Given the description of an element on the screen output the (x, y) to click on. 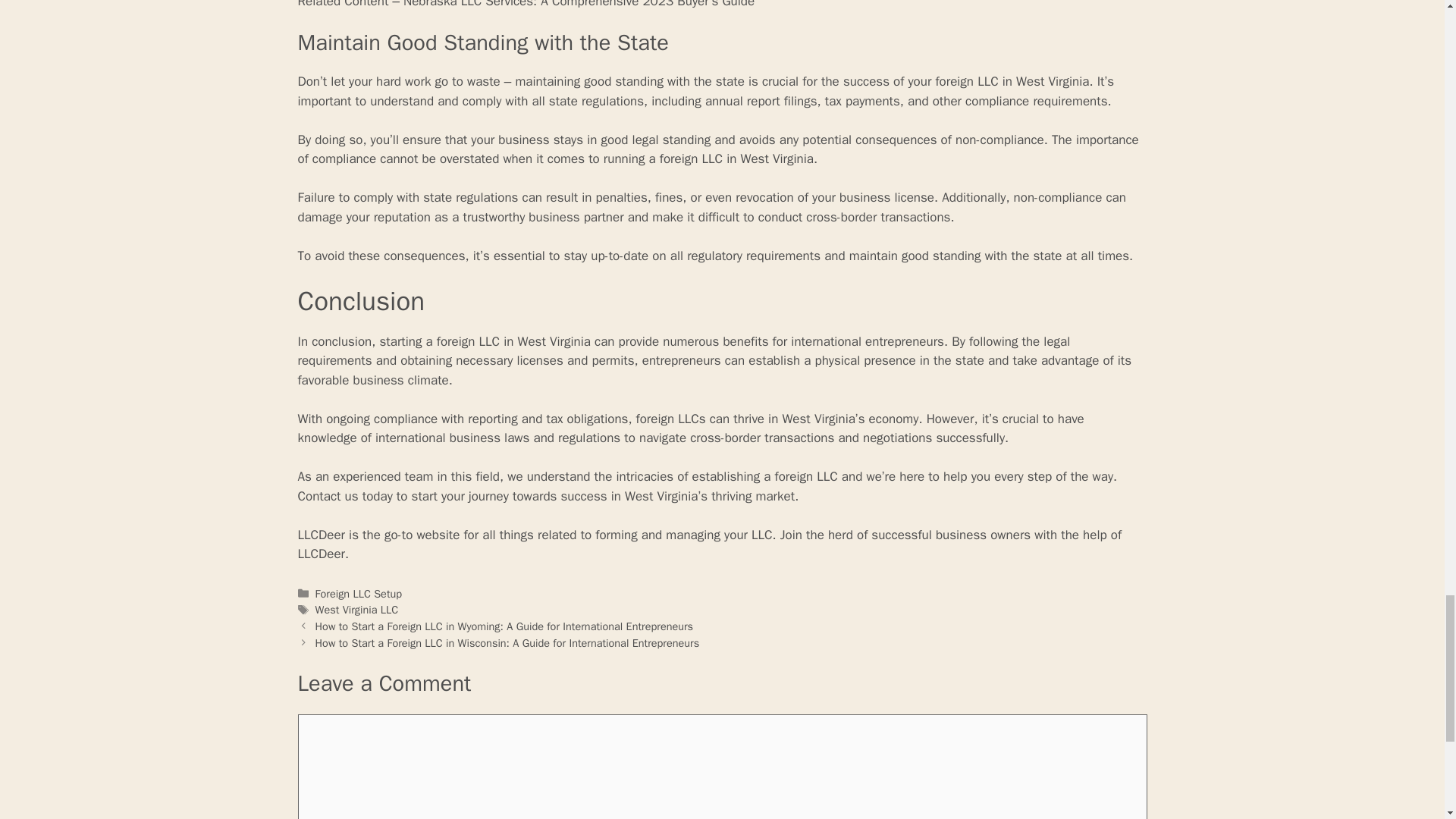
West Virginia LLC (356, 609)
LLCDeer (321, 534)
Foreign LLC Setup (359, 593)
LLCDeer (321, 534)
